Given the description of an element on the screen output the (x, y) to click on. 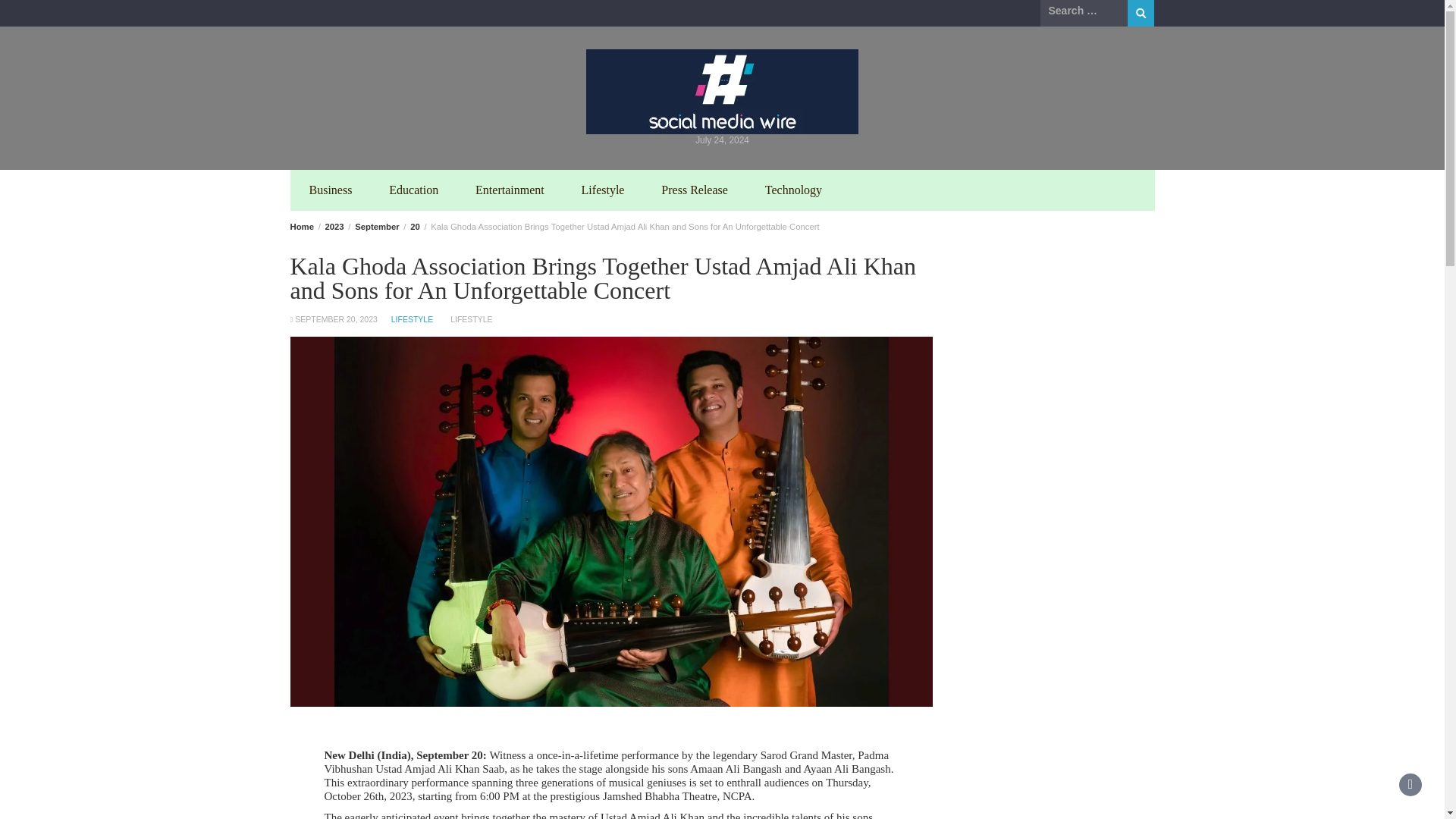
Lifestyle (603, 189)
2023 (333, 225)
Home (301, 225)
Business (331, 189)
Technology (793, 189)
Press Release (694, 189)
LIFESTYLE (470, 318)
SEPTEMBER 20, 2023 (336, 318)
Search for: (1083, 11)
Entertainment (509, 189)
LIFESTYLE (411, 318)
Search (1140, 13)
September (376, 225)
Search (1140, 13)
20 (415, 225)
